Given the description of an element on the screen output the (x, y) to click on. 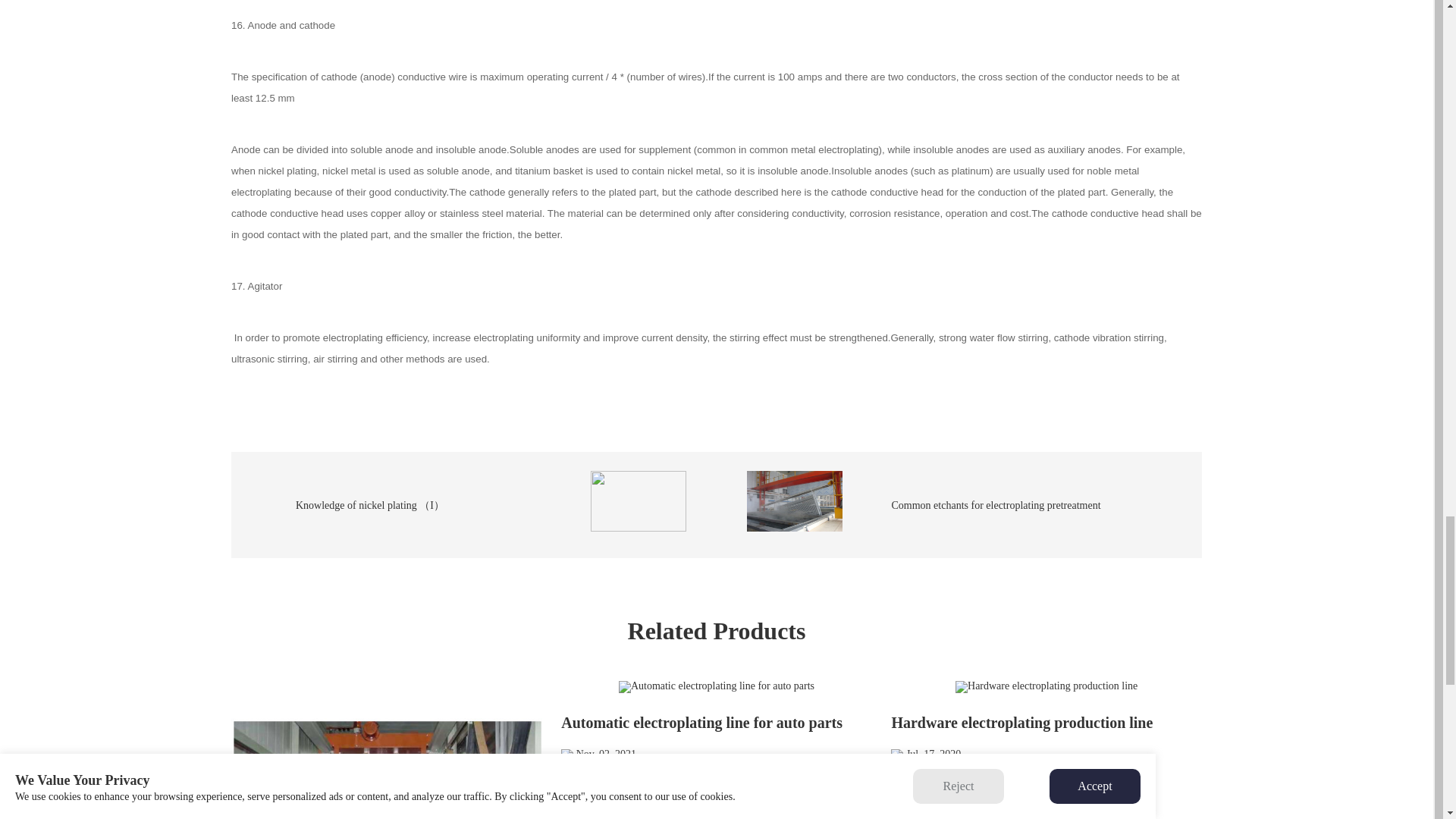
Hardware electroplating production line (1046, 686)
Automatic electroplating line for auto parts (715, 686)
Automatic electroplating line for auto parts (716, 720)
Plating line for screw lock (386, 749)
Plating line for screw lock (386, 749)
Hardware electroplating production line (1046, 720)
